Given the description of an element on the screen output the (x, y) to click on. 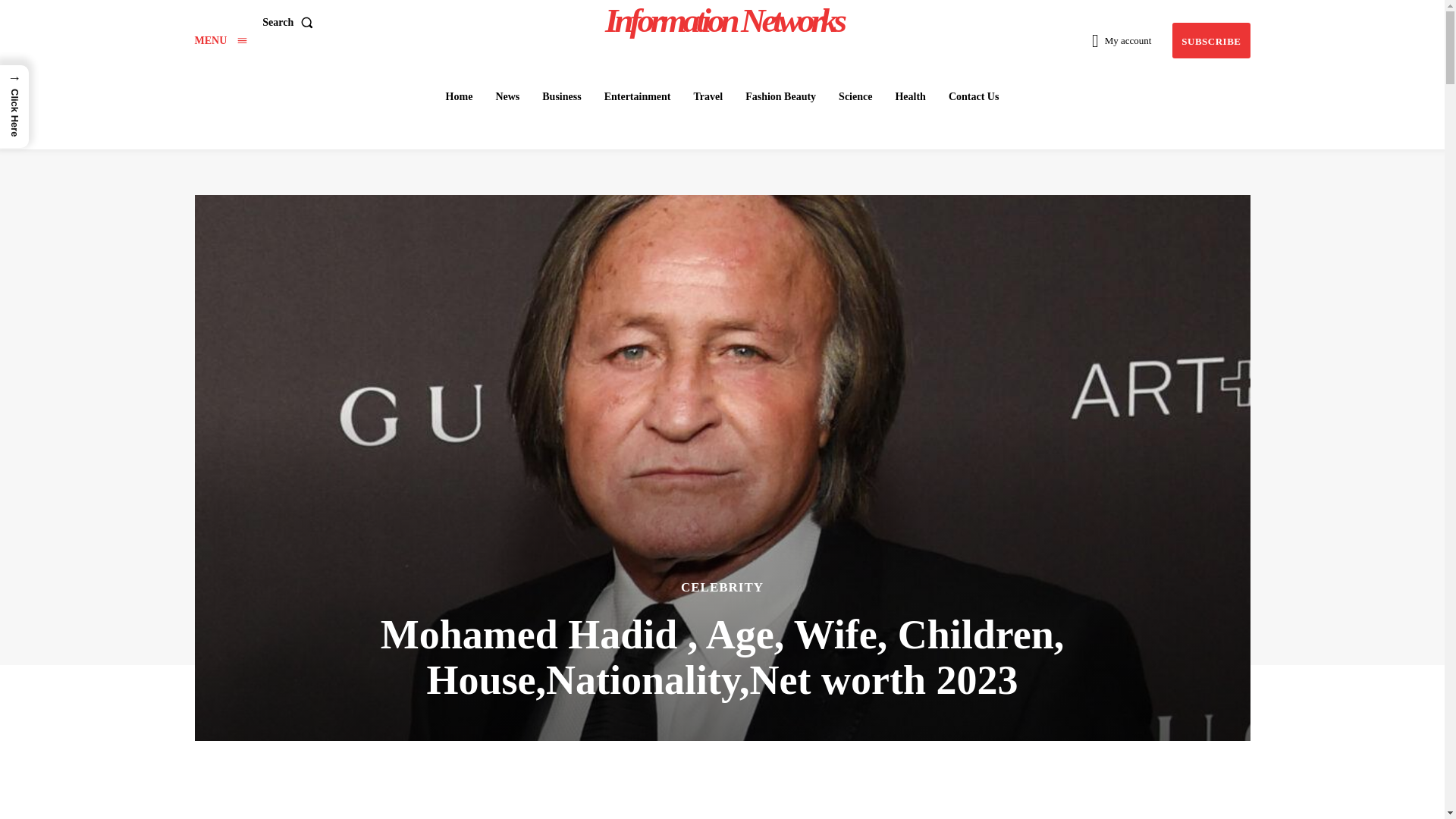
News (507, 97)
Information Networks (724, 20)
Business (561, 97)
Advertisement (722, 795)
Entertainment (637, 97)
MENU (220, 40)
Menu (220, 40)
Search (290, 21)
SUBSCRIBE (1210, 40)
Home (459, 97)
